Given the description of an element on the screen output the (x, y) to click on. 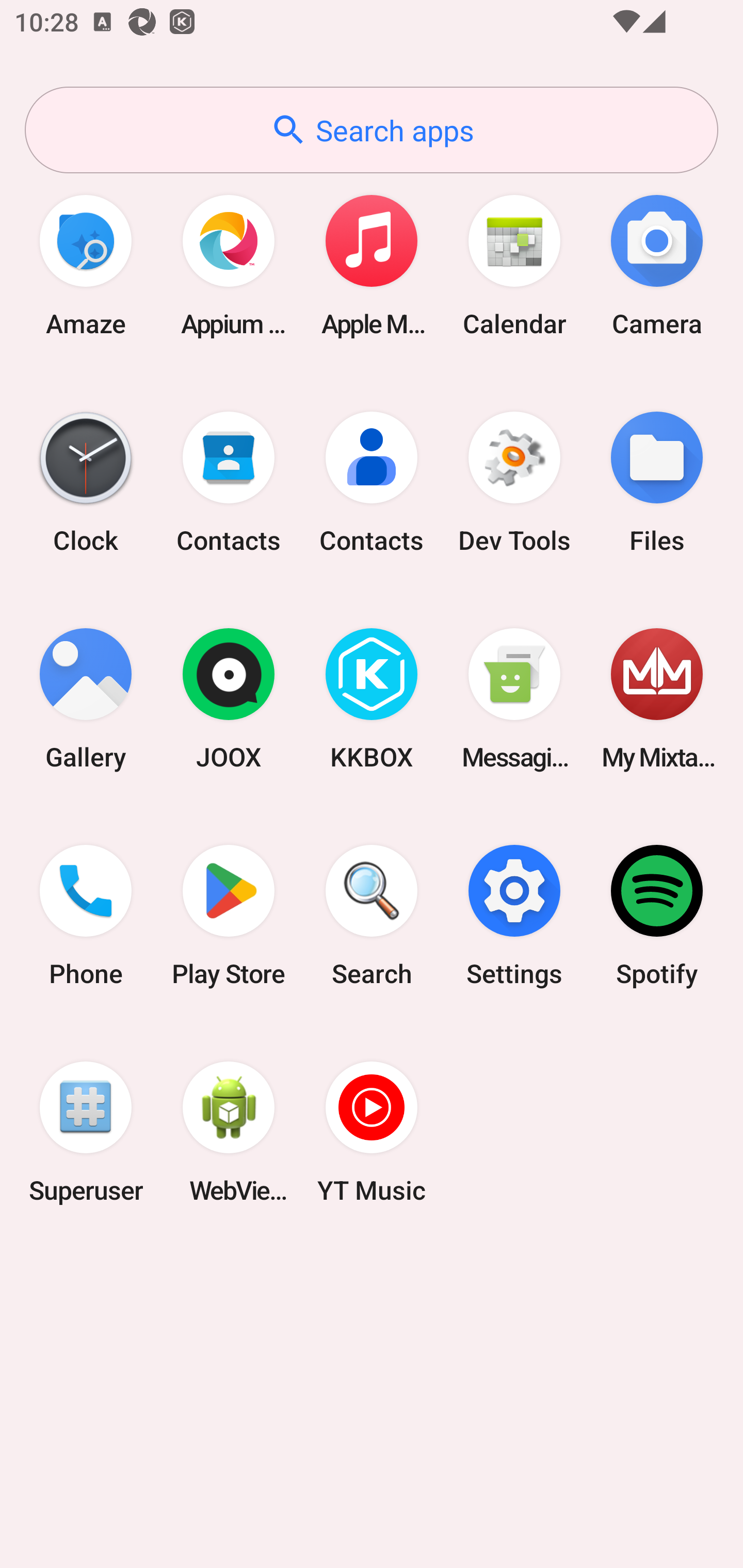
  Search apps (371, 130)
Amaze (85, 264)
Appium Settings (228, 264)
Apple Music (371, 264)
Calendar (514, 264)
Camera (656, 264)
Clock (85, 482)
Contacts (228, 482)
Contacts (371, 482)
Dev Tools (514, 482)
Files (656, 482)
Gallery (85, 699)
JOOX (228, 699)
KKBOX (371, 699)
Messaging (514, 699)
My Mixtapez (656, 699)
Phone (85, 915)
Play Store (228, 915)
Search (371, 915)
Settings (514, 915)
Spotify (656, 915)
Superuser (85, 1131)
WebView Browser Tester (228, 1131)
YT Music (371, 1131)
